Given the description of an element on the screen output the (x, y) to click on. 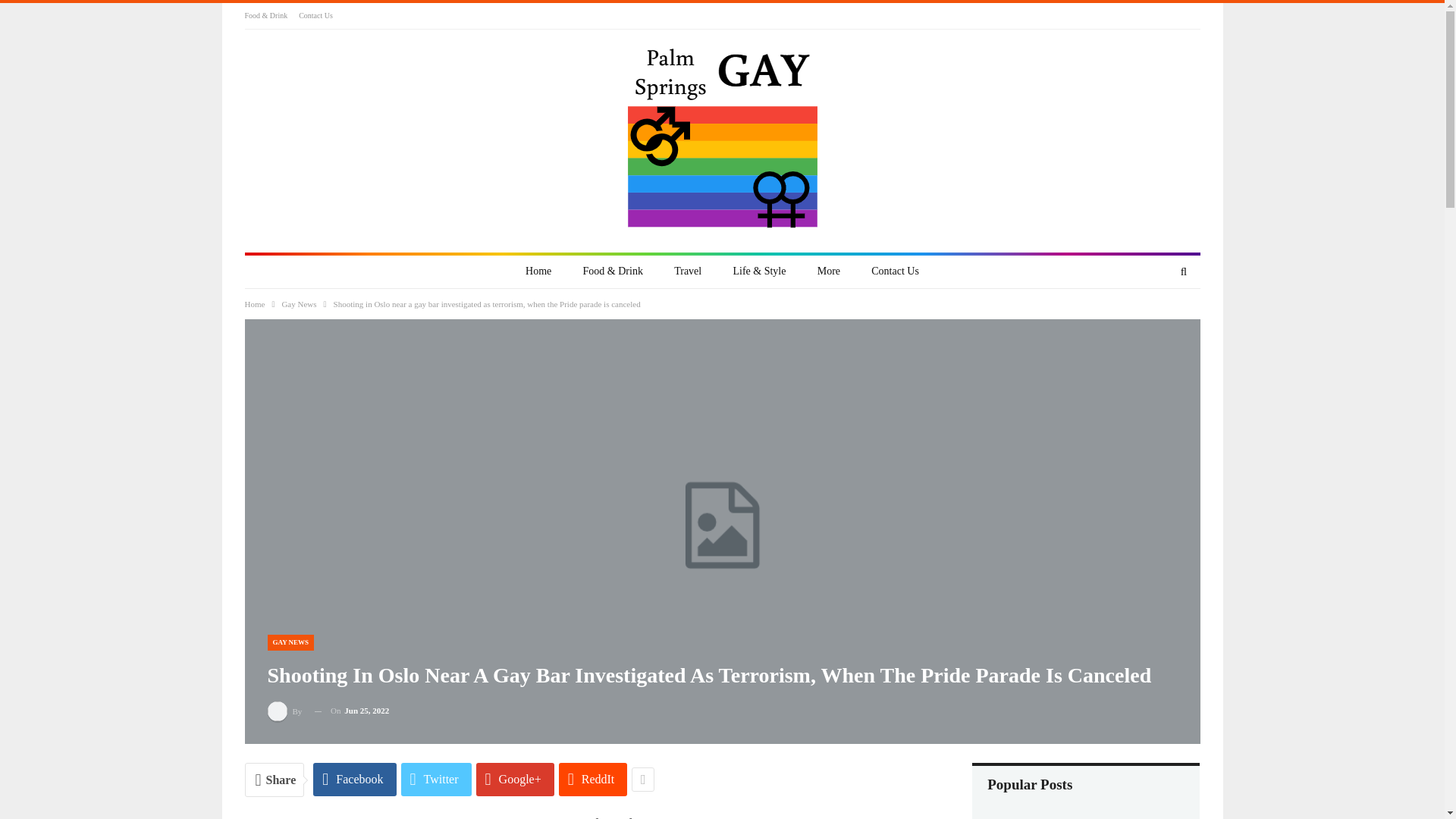
Contact Us (895, 271)
Contact Us (315, 15)
Browse Author Articles (284, 711)
By (284, 711)
Gay News (298, 303)
Facebook (354, 779)
Home (537, 271)
Twitter (436, 779)
Home (254, 303)
GAY NEWS (290, 642)
Travel (687, 271)
ReddIt (593, 779)
More (828, 271)
